Given the description of an element on the screen output the (x, y) to click on. 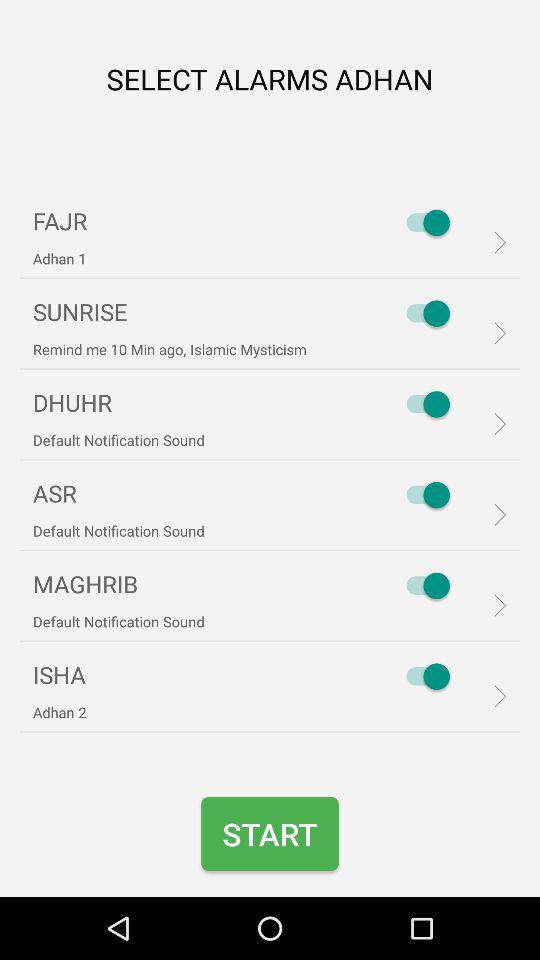
turn off item to the right of the fajr icon (423, 222)
